Given the description of an element on the screen output the (x, y) to click on. 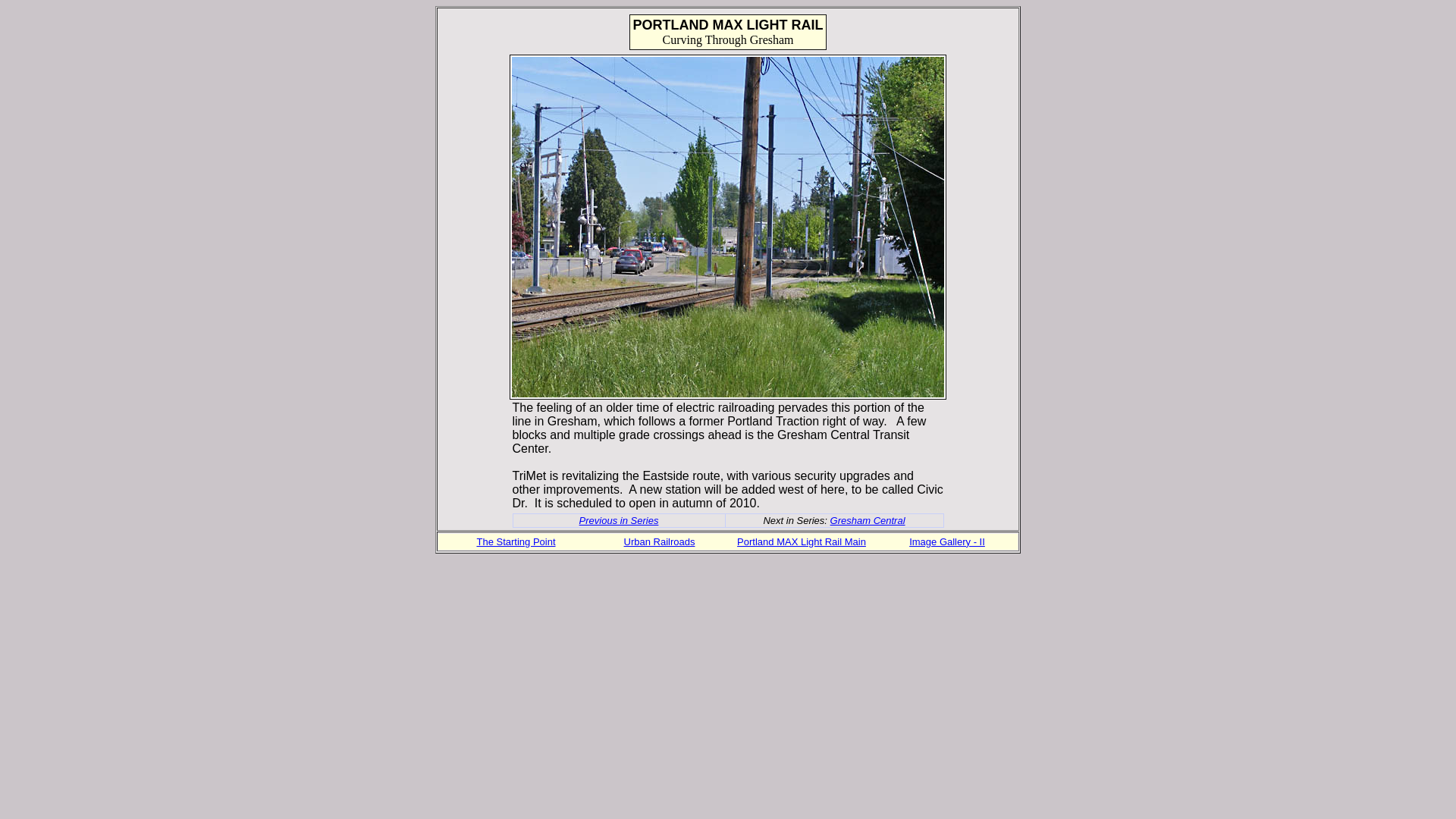
Portland MAX Light Rail Main (801, 541)
Gresham Central (867, 520)
The Starting Point (515, 541)
Previous in Series (619, 520)
Urban Railroads (659, 541)
Image Gallery - II (946, 541)
